Given the description of an element on the screen output the (x, y) to click on. 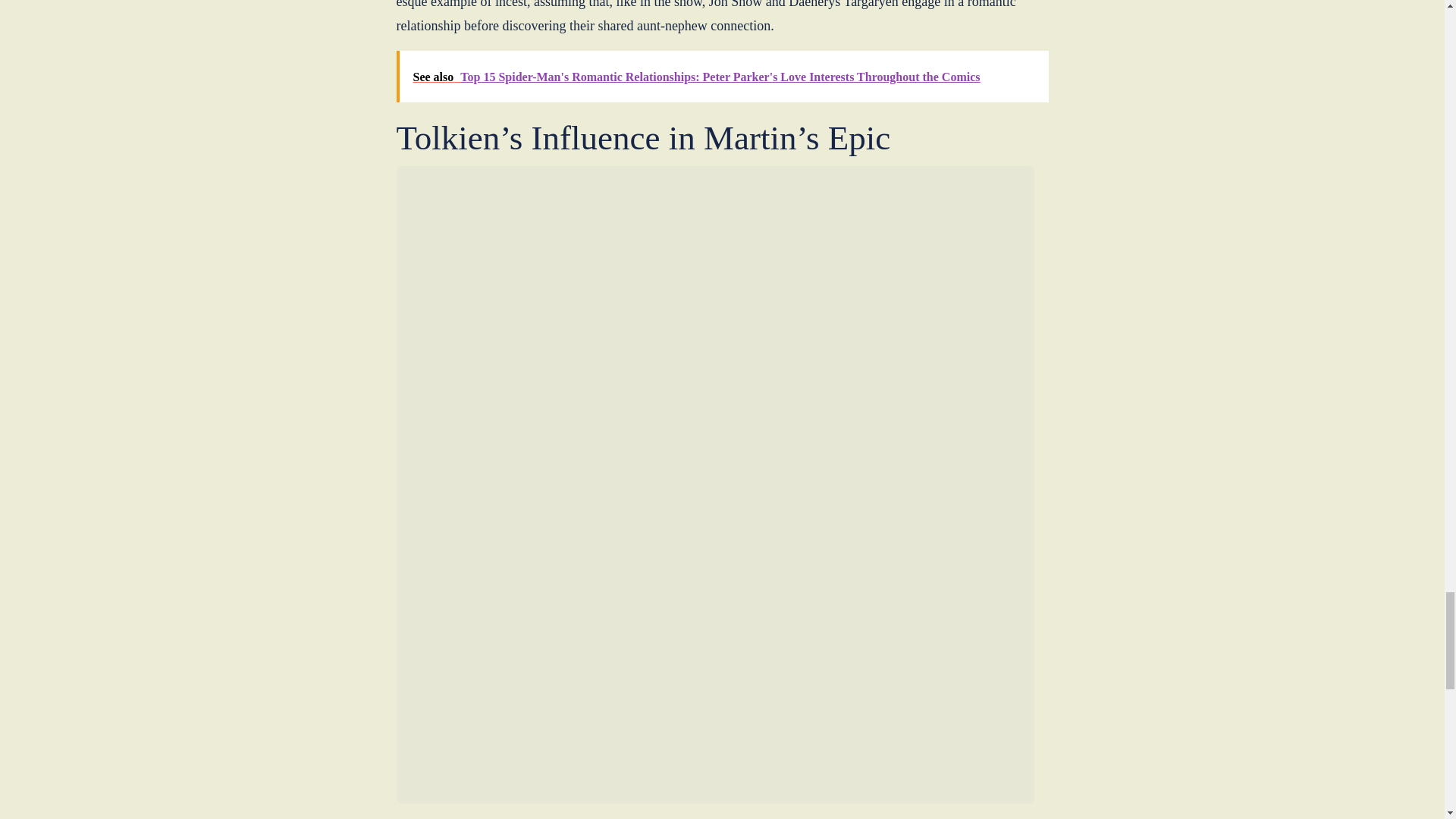
Song (660, 818)
